Given the description of an element on the screen output the (x, y) to click on. 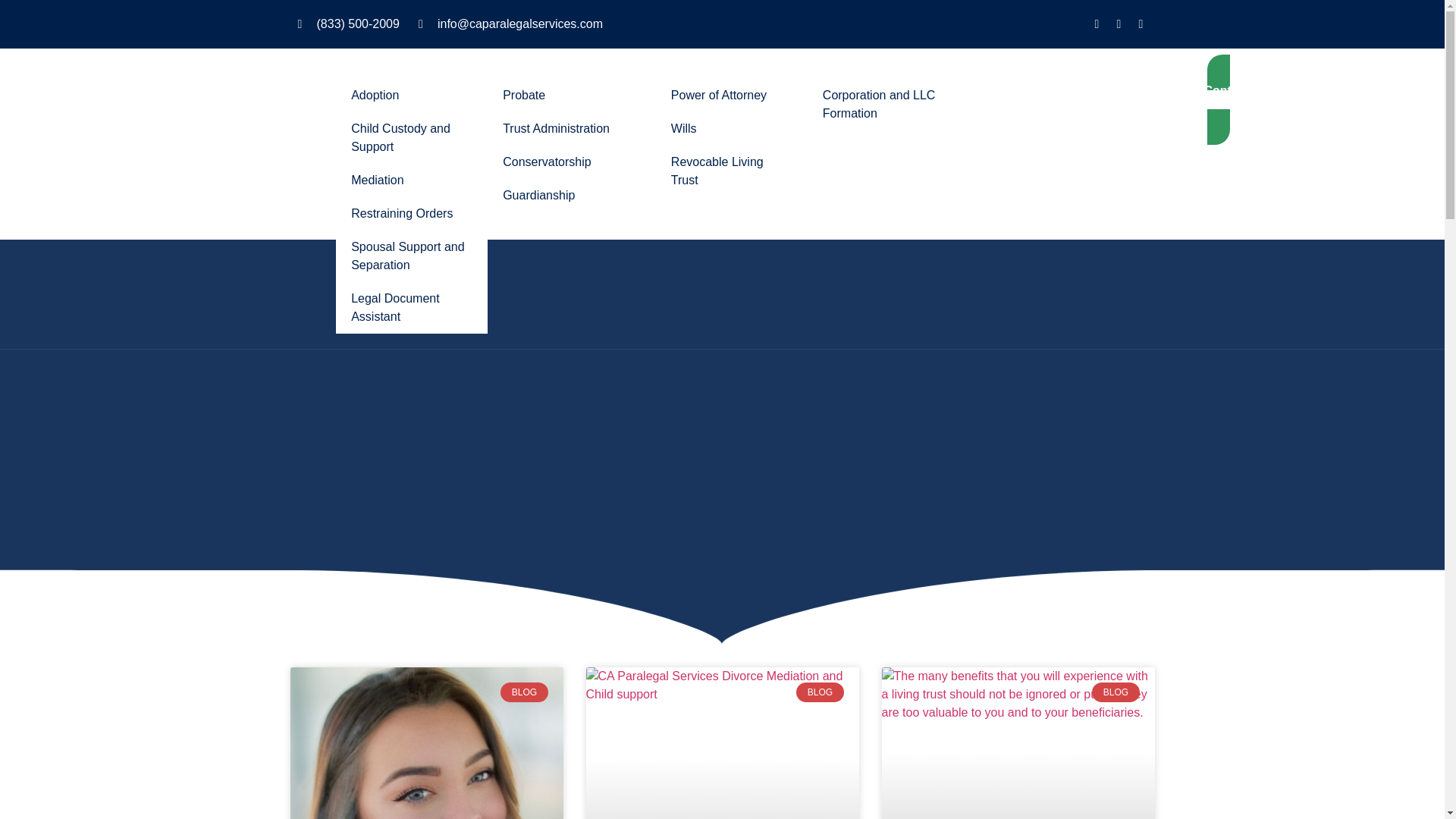
Business Law (883, 70)
Revocable Living Trust (732, 171)
Spousal Support and Separation (411, 255)
About Us (992, 70)
Legal Document Assistant (411, 307)
Restraining Orders (411, 213)
Power of Attorney (732, 95)
Blog (1169, 70)
Wills (732, 128)
Child Custody and Support (411, 137)
